Given the description of an element on the screen output the (x, y) to click on. 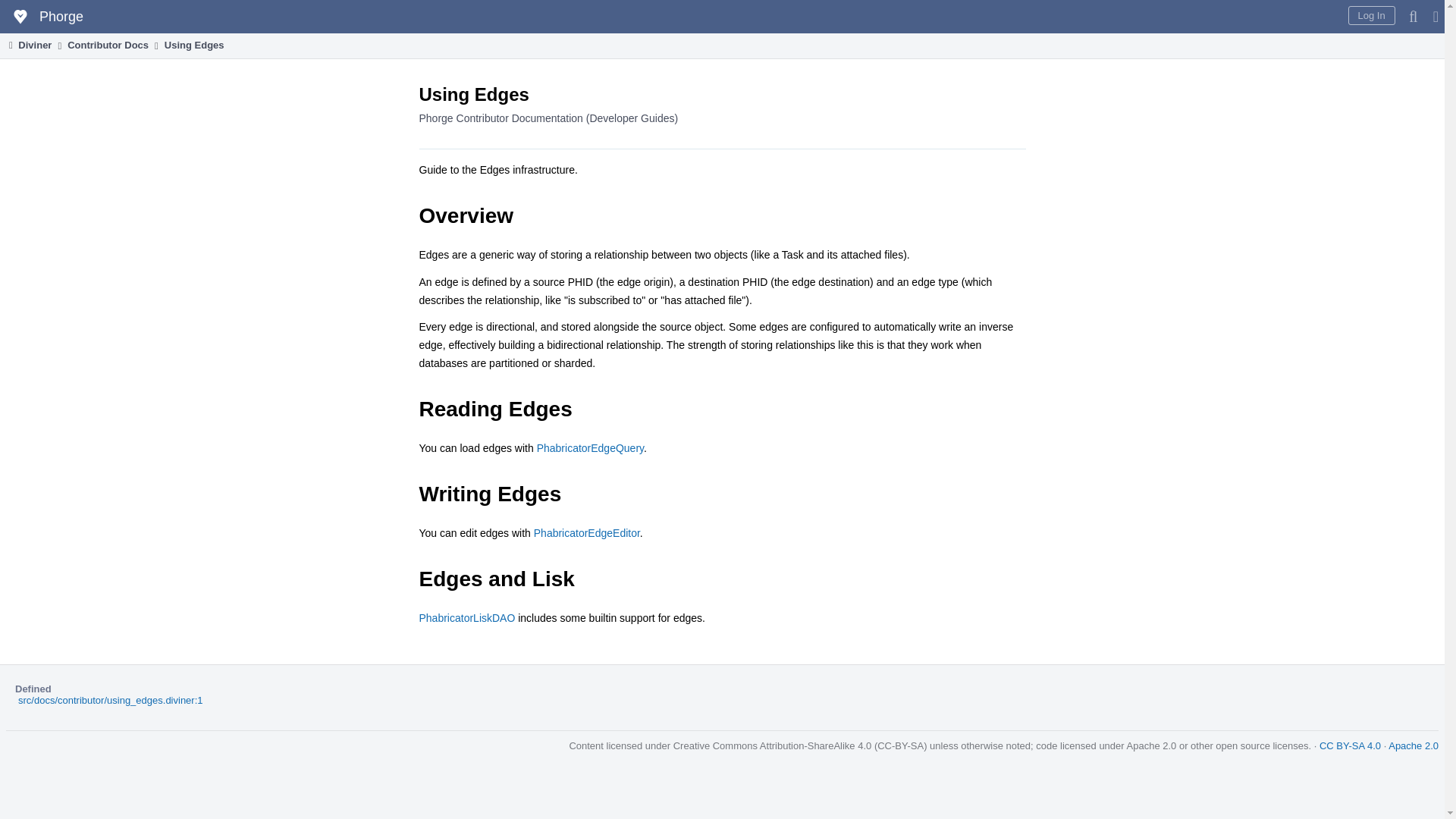
PhabricatorEdgeQuery (590, 448)
PhabricatorLiskDAO (467, 617)
Contributor Docs (107, 44)
CC BY-SA 4.0 (1349, 745)
Log In (1371, 15)
Apache 2.0 (1413, 745)
Diviner (27, 44)
PhabricatorEdgeEditor (587, 532)
Phorge (46, 16)
